Given the description of an element on the screen output the (x, y) to click on. 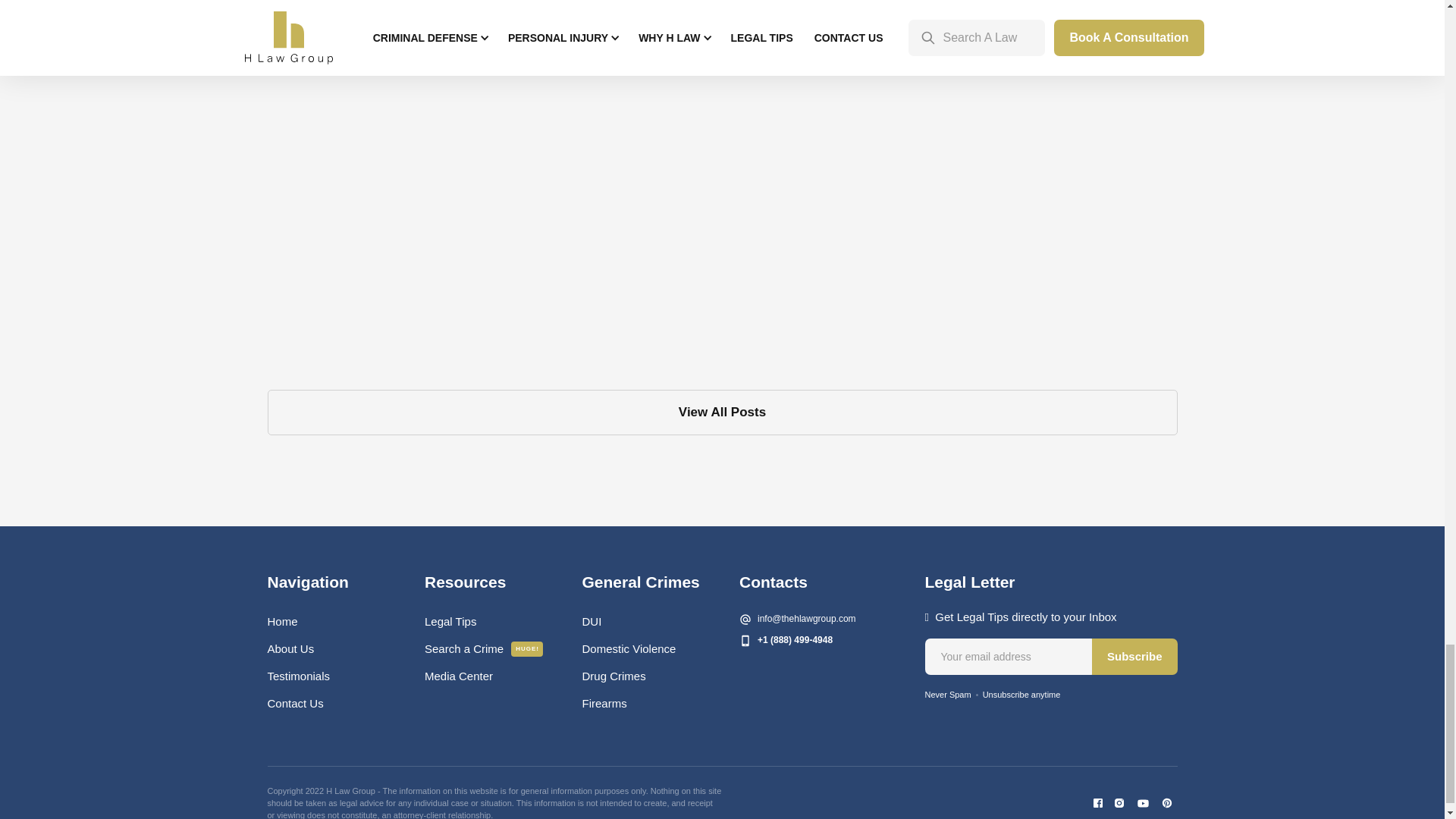
Subscribe (1134, 656)
